Given the description of an element on the screen output the (x, y) to click on. 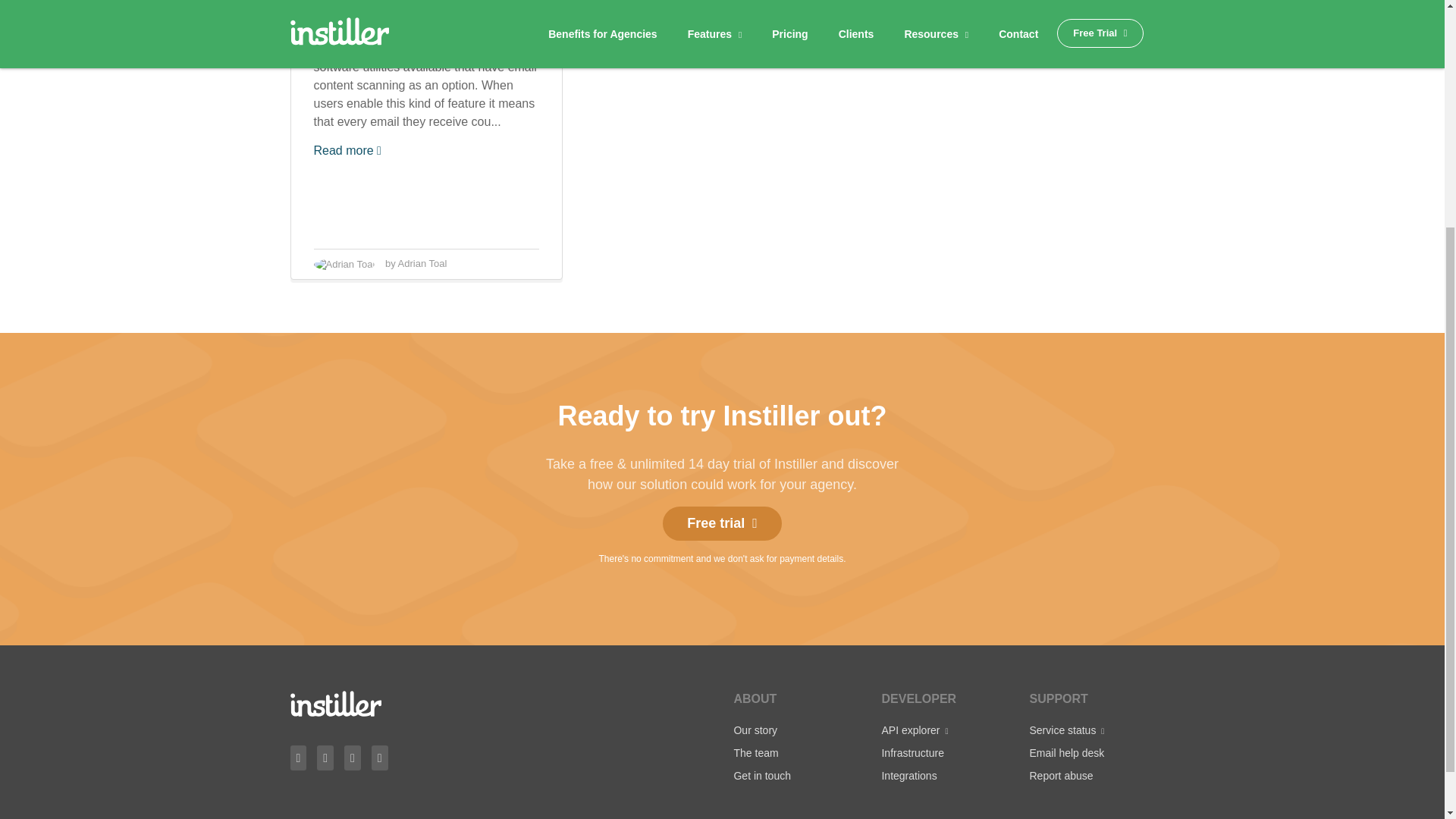
Reducing automated opt-outs (410, 22)
Adrian Toal (421, 263)
Our story (755, 729)
Read more (347, 150)
Free trial (721, 523)
